Given the description of an element on the screen output the (x, y) to click on. 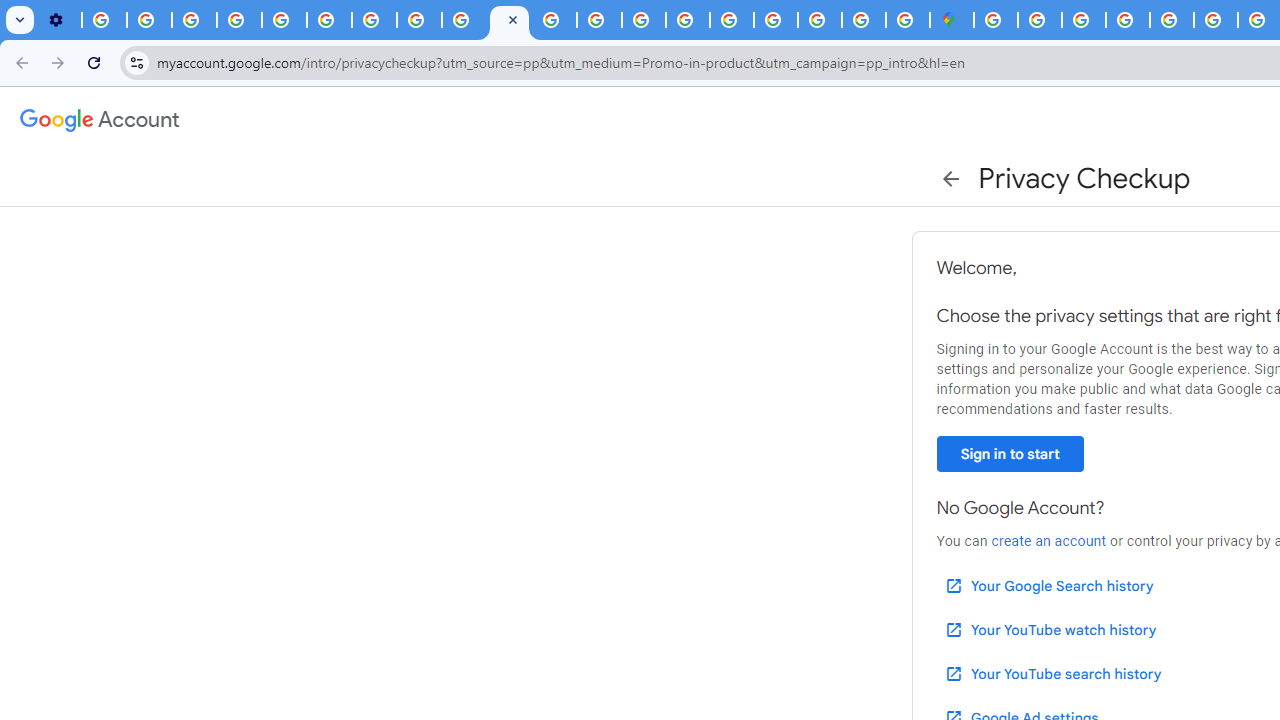
Your YouTube watch history (1049, 630)
Settings - Customize profile (59, 20)
Sign in - Google Accounts (775, 20)
Your Google Search history (1048, 586)
Your YouTube search history (1052, 673)
Sign in - Google Accounts (1039, 20)
Terms and Conditions (1171, 20)
Google Account settings (100, 120)
